Given the description of an element on the screen output the (x, y) to click on. 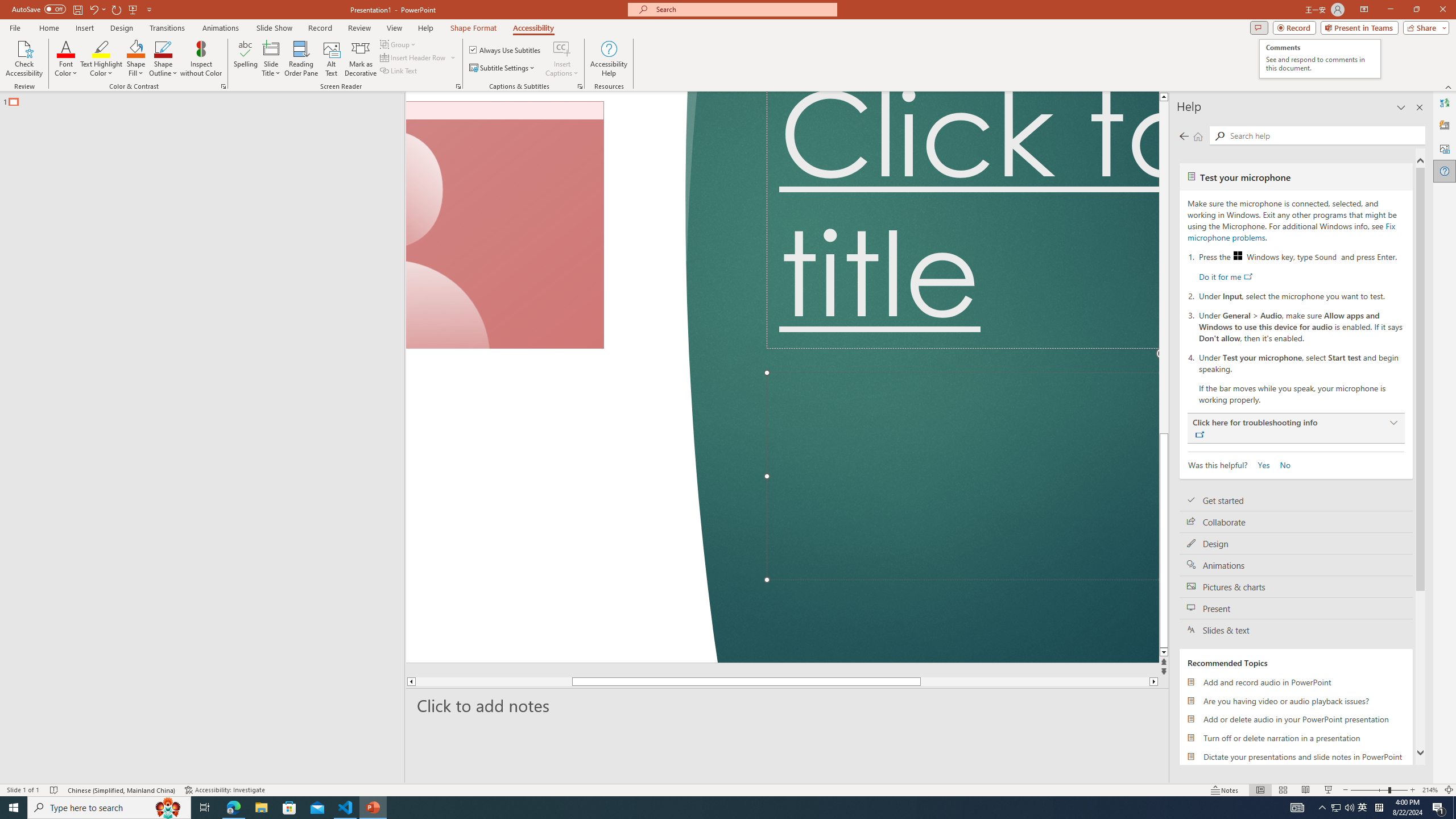
Turn off or delete narration in a presentation (1295, 737)
Color & Contrast (223, 85)
Do it for me (1225, 276)
